Given the description of an element on the screen output the (x, y) to click on. 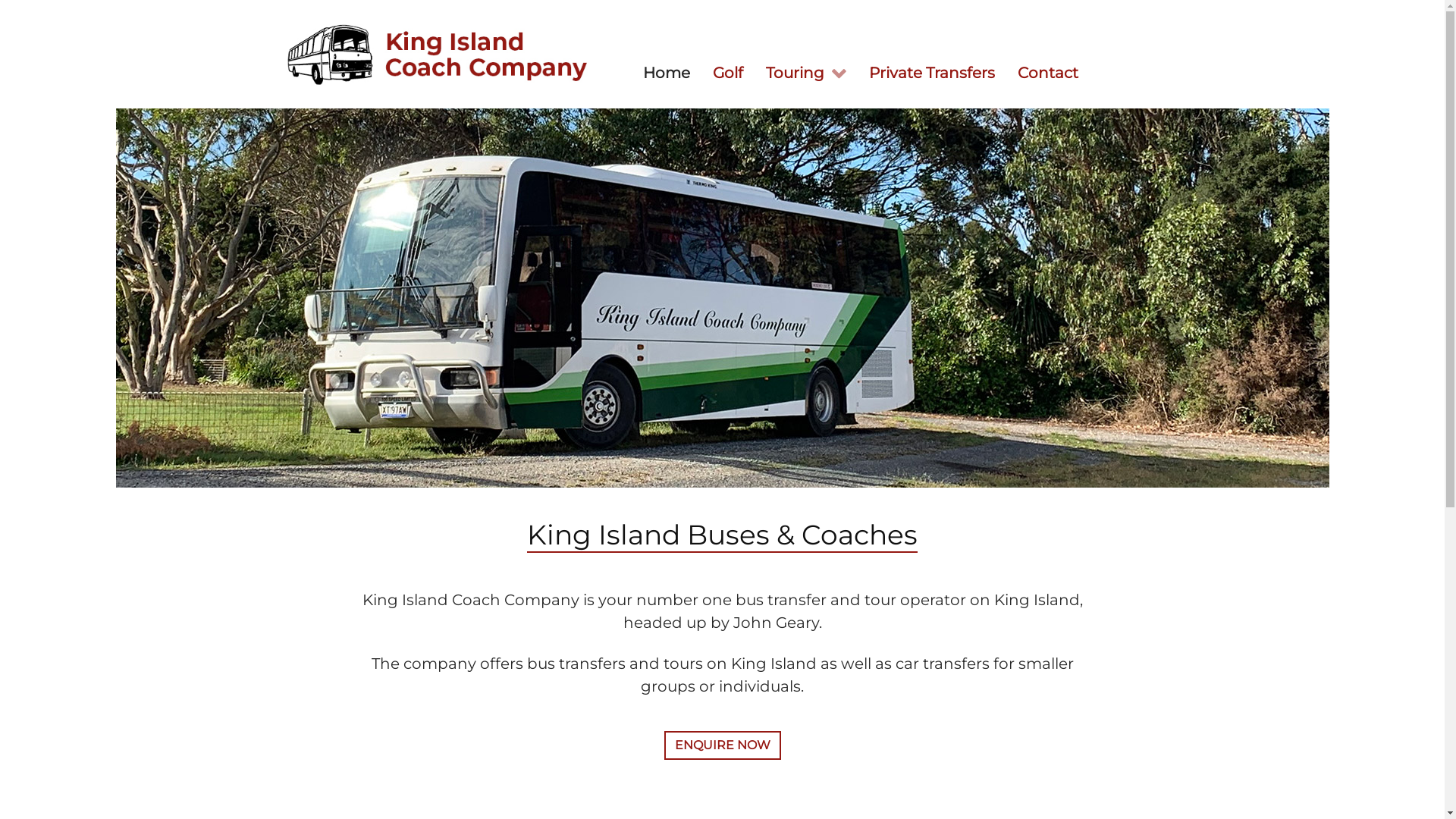
Home Element type: text (665, 71)
ENQUIRE NOW Element type: text (722, 745)
Golf Element type: text (726, 71)
Private Transfers Element type: text (930, 71)
Contact Element type: text (1046, 71)
Touring Element type: text (804, 71)
king-island-buses Element type: hover (721, 297)
